Given the description of an element on the screen output the (x, y) to click on. 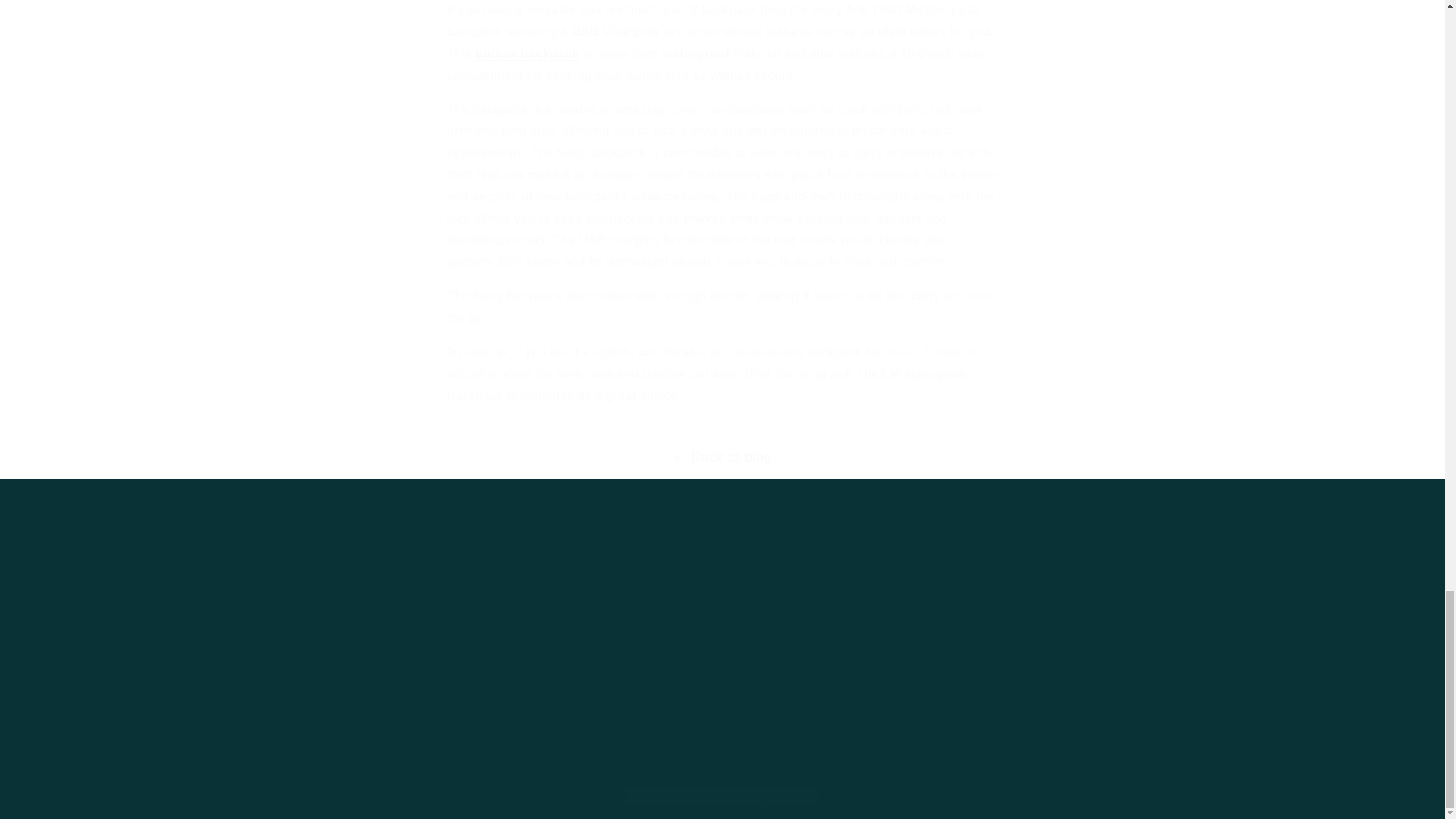
tel:0348277004 (974, 733)
